Given the description of an element on the screen output the (x, y) to click on. 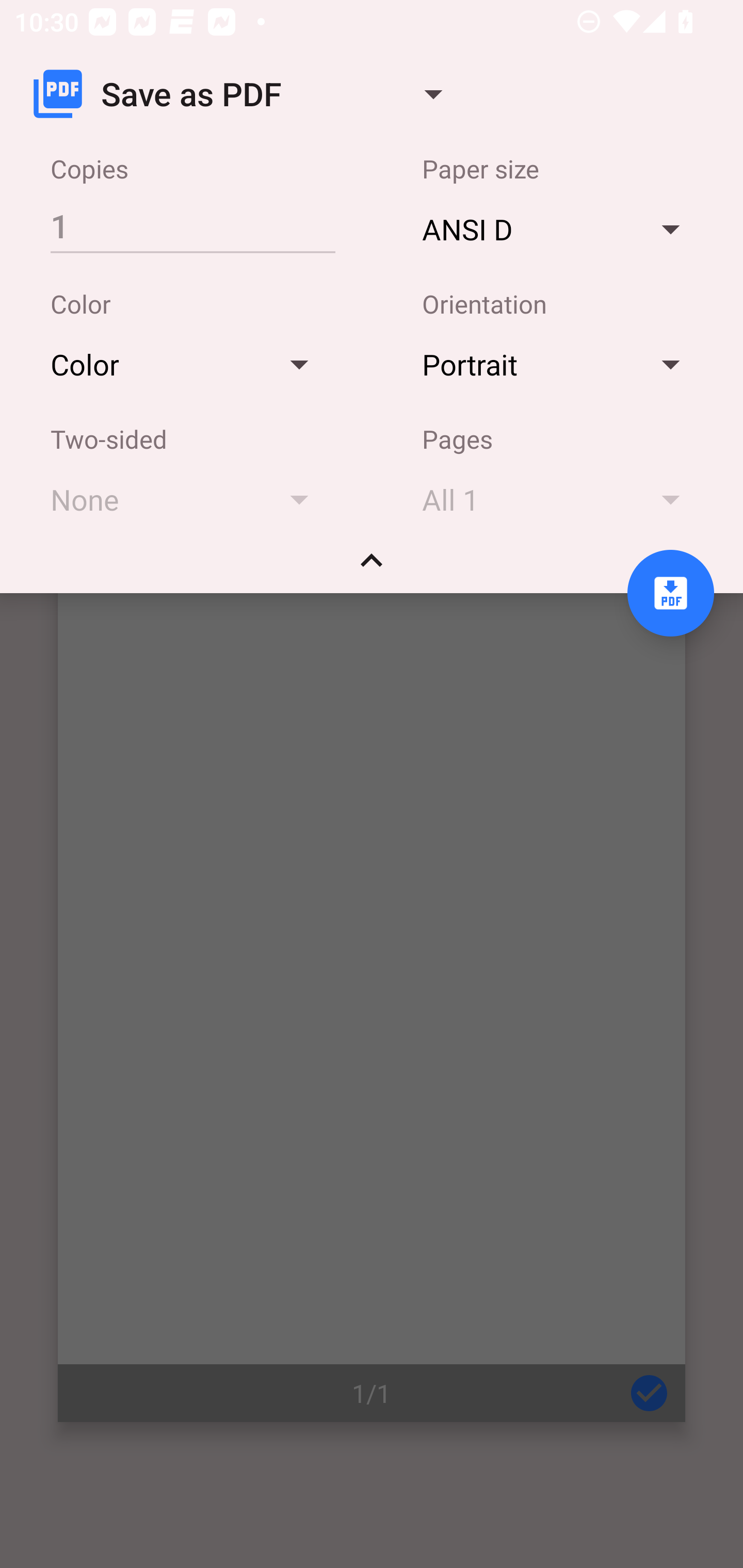
Save as PDF (245, 93)
1 (192, 225)
ANSI D (560, 228)
Color (189, 364)
Portrait (560, 364)
None (189, 499)
All 1 (560, 499)
Collapse handle (371, 567)
Save to PDF (670, 593)
